Given the description of an element on the screen output the (x, y) to click on. 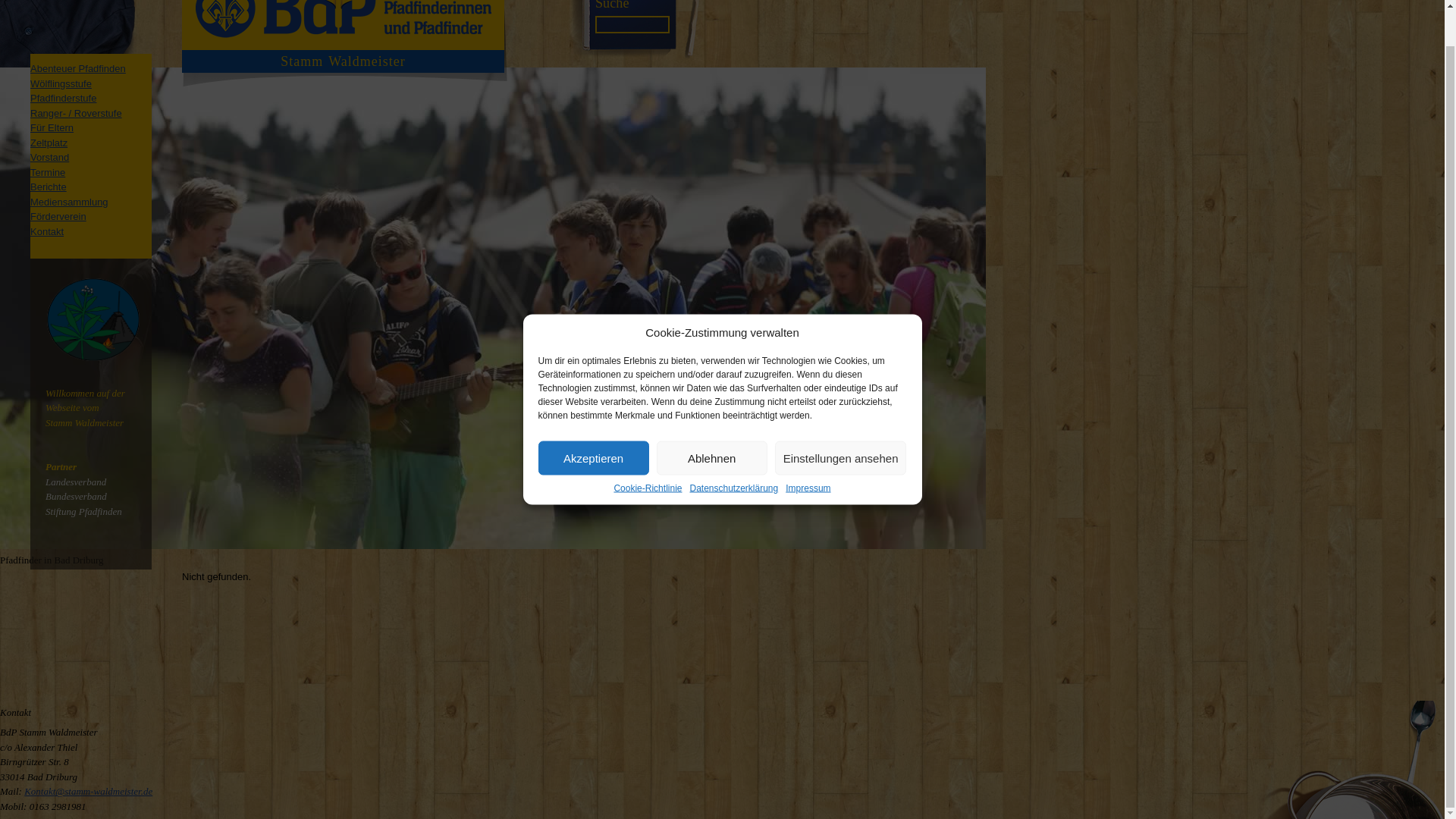
Einstellungen ansehen (840, 421)
Bundesverband (75, 496)
Mediensammlung (68, 202)
Pfadfinderstufe (63, 98)
Zeltplatz (48, 142)
Query search (611, 5)
Berichte (48, 186)
Kontakt (47, 231)
Akzeptieren (593, 421)
Stiftung Pfadfinden (83, 511)
